Given the description of an element on the screen output the (x, y) to click on. 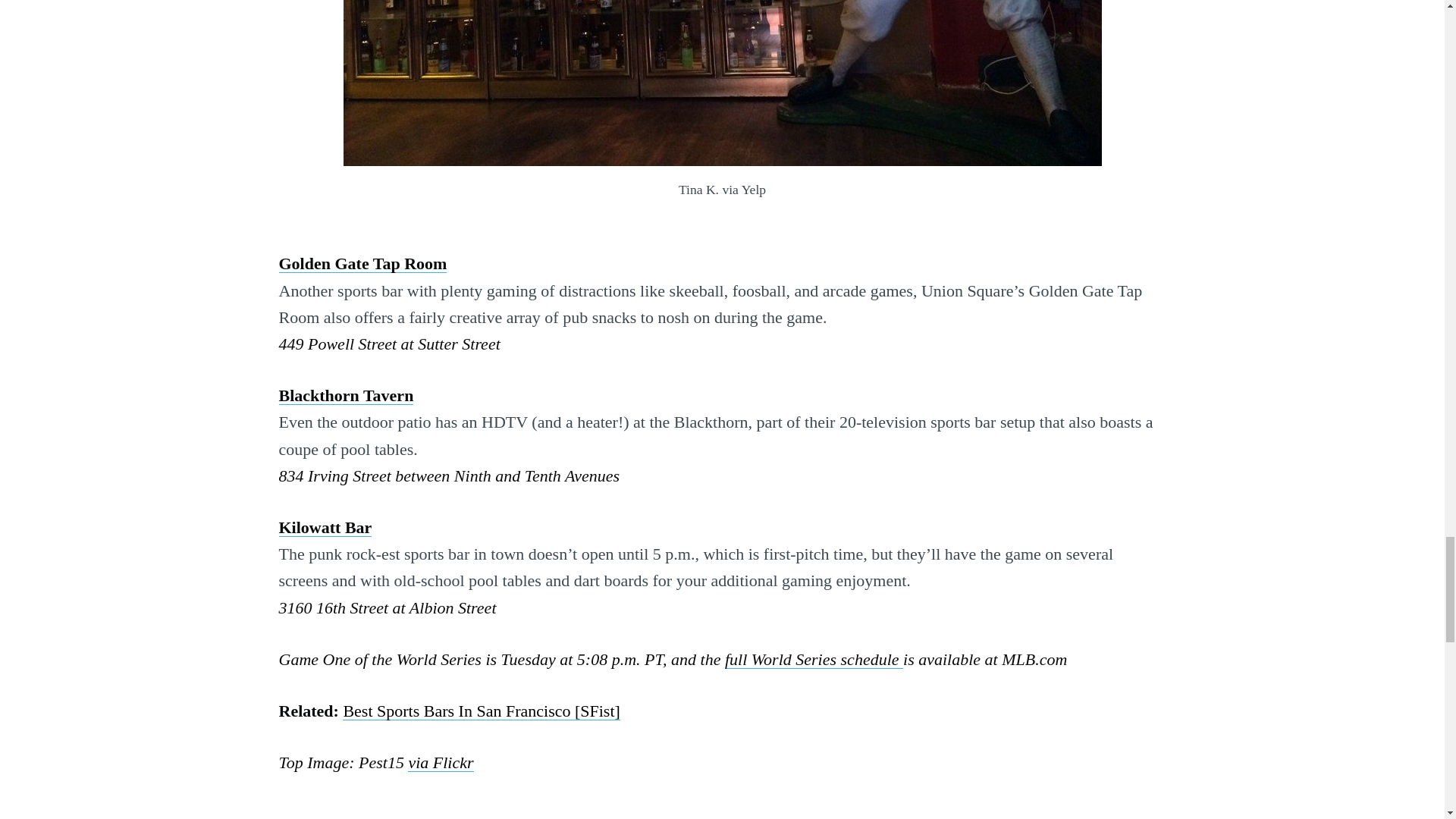
Blackthorn Tavern (346, 394)
full World Series schedule (813, 659)
Golden Gate Tap Room (362, 262)
Kilowatt Bar (325, 527)
